Given the description of an element on the screen output the (x, y) to click on. 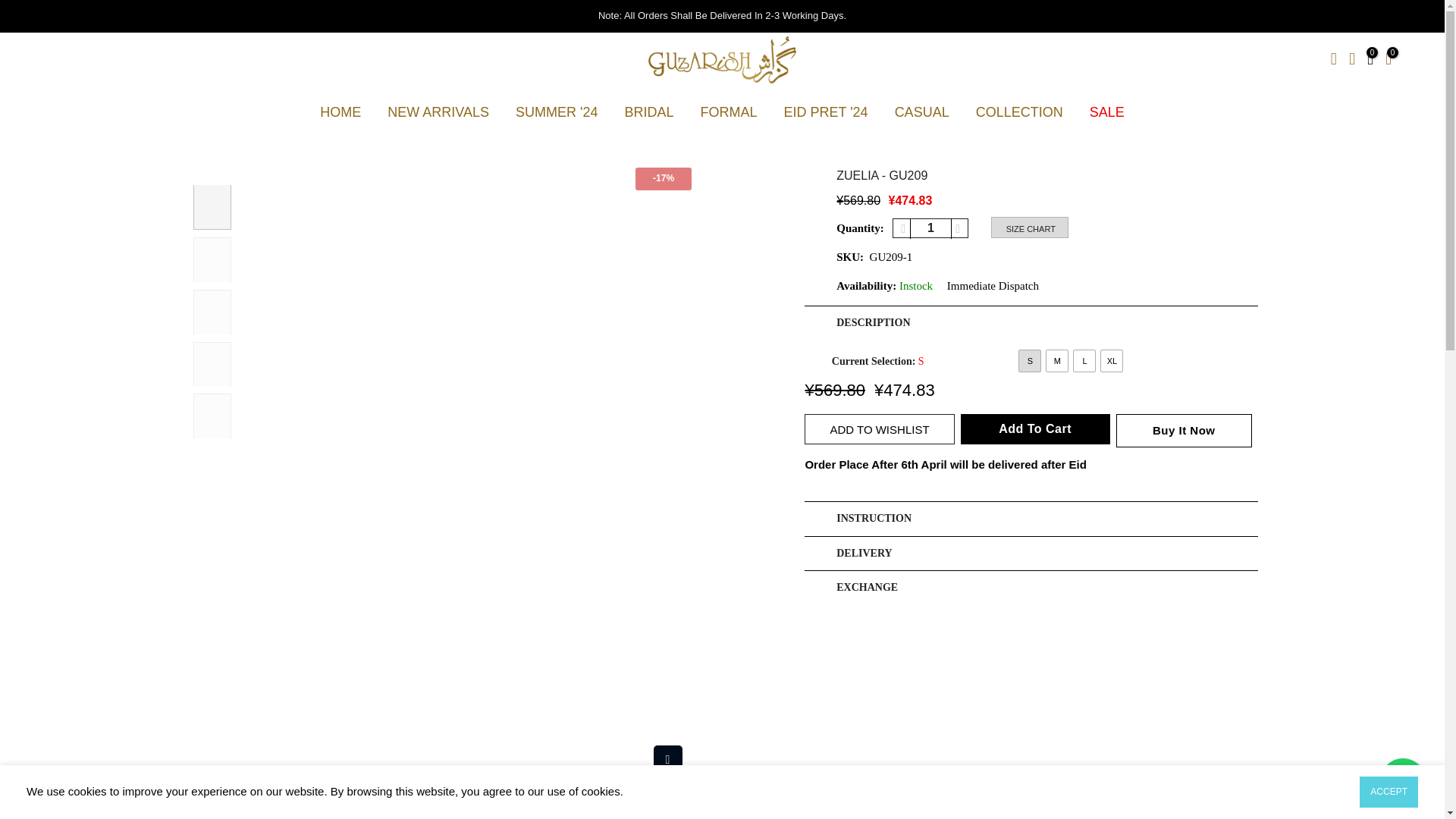
NEW ARRIVALS (438, 112)
1 (930, 228)
BRIDAL (649, 112)
SALE (1106, 112)
EXCHANGE (1031, 587)
Buy It Now (1184, 430)
HOME (340, 112)
FORMAL (728, 112)
Add To Cart (1034, 429)
DESCRIPTION (1031, 323)
DELIVERY (1031, 553)
EID PRET '24 (825, 112)
CASUAL (921, 112)
ADD TO WISHLIST (879, 429)
SUMMER '24 (556, 112)
